Given the description of an element on the screen output the (x, y) to click on. 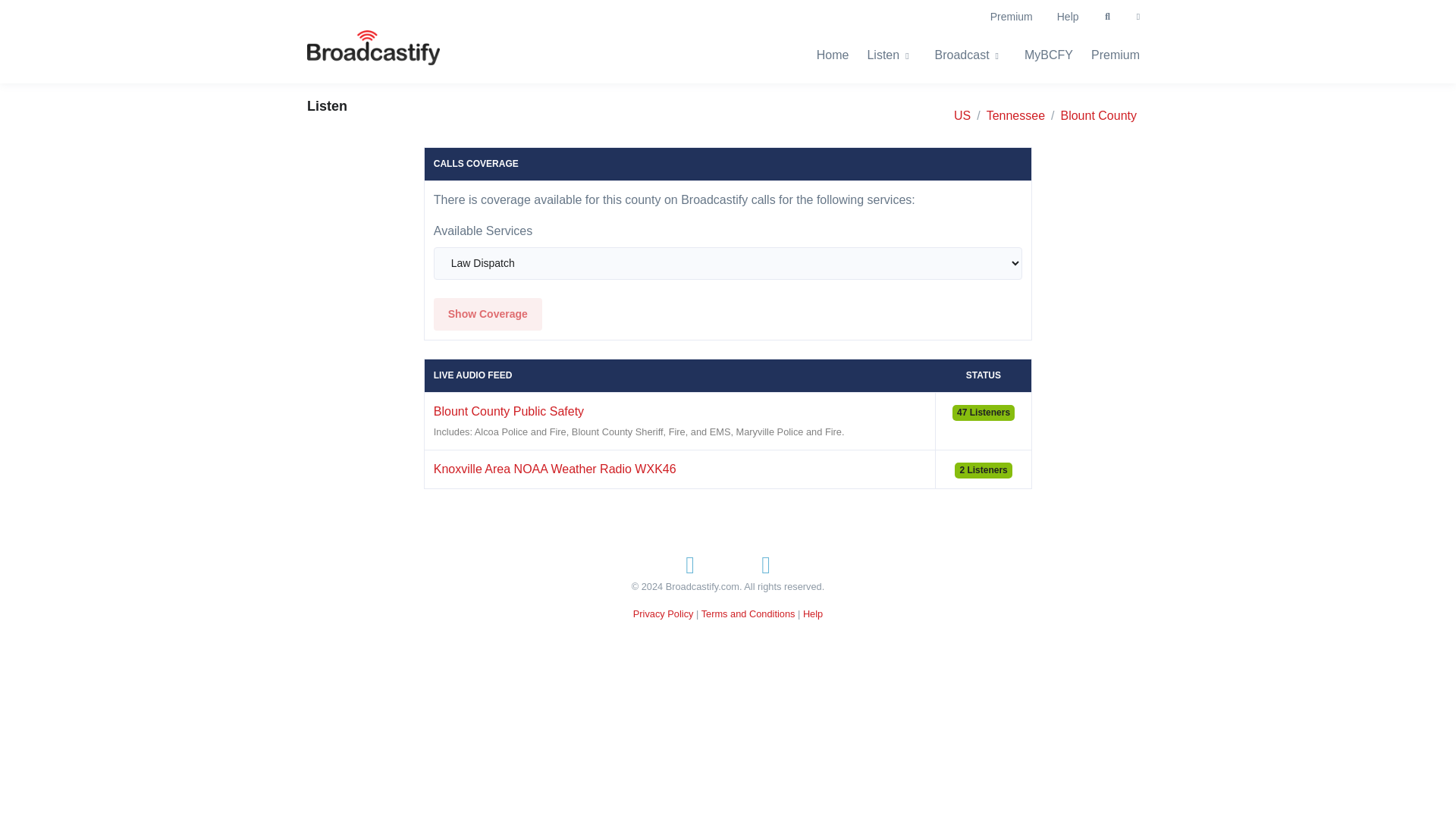
Show Coverage (487, 314)
Premium (1114, 55)
MyBCFY (1047, 55)
Listen (890, 55)
Privacy Policy (663, 613)
Broadcast (970, 55)
Blount County (1098, 116)
Knoxville Area NOAA Weather Radio WXK46 (555, 468)
Help (1067, 16)
Tennessee (1016, 116)
